Given the description of an element on the screen output the (x, y) to click on. 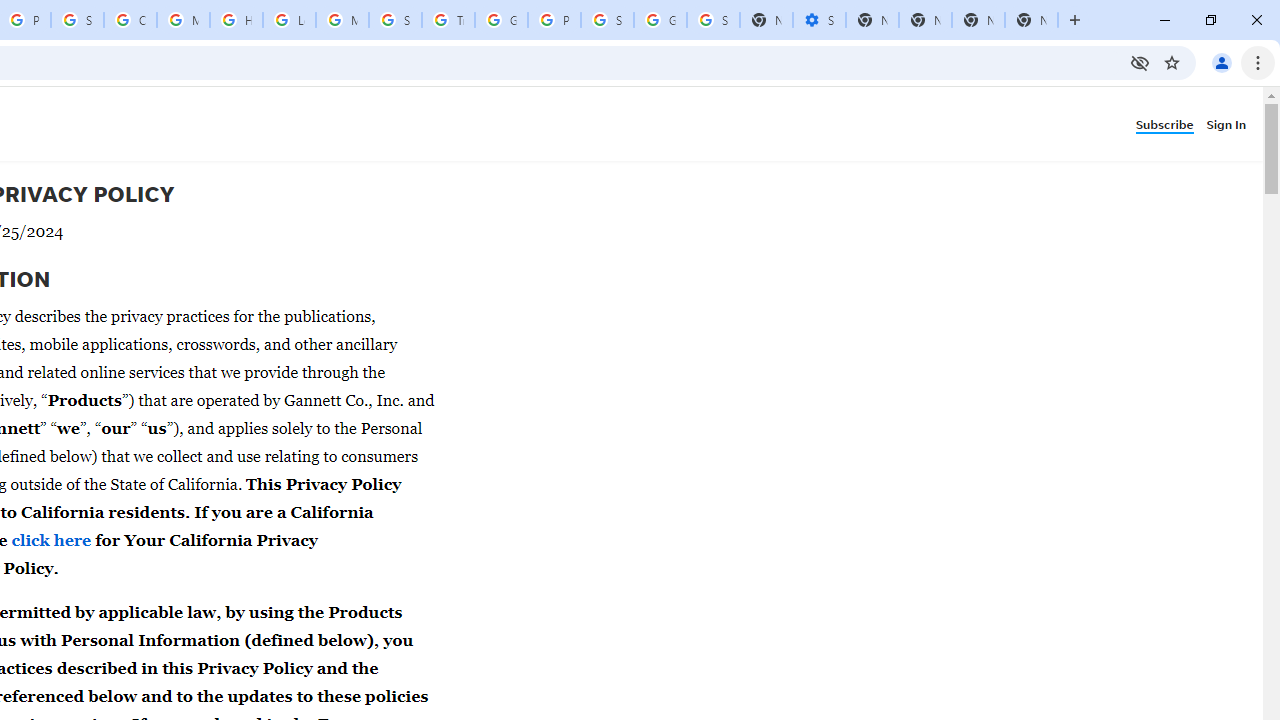
Sign in - Google Accounts (607, 20)
Subscribe (1169, 123)
Sign in - Google Accounts (713, 20)
click here (51, 539)
